Given the description of an element on the screen output the (x, y) to click on. 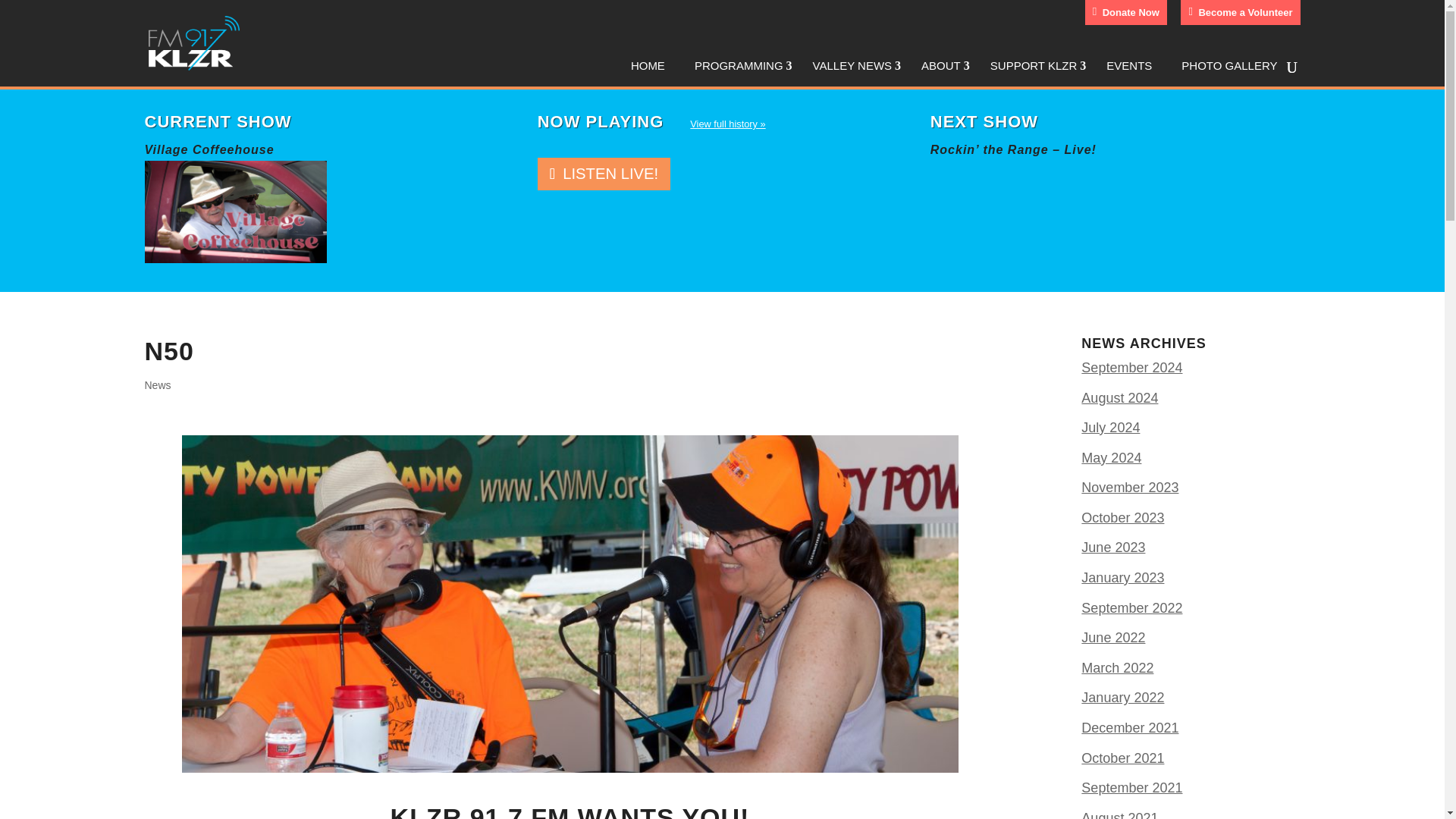
News (157, 385)
PHOTO GALLERY (1232, 67)
Village Coffeehouse (235, 258)
Become a Volunteer (1240, 12)
Donate Now (1125, 12)
PROGRAMMING (743, 67)
HOME (652, 67)
VALLEY NEWS (856, 67)
EVENTS (1133, 67)
LISTEN LIVE! (604, 173)
